Given the description of an element on the screen output the (x, y) to click on. 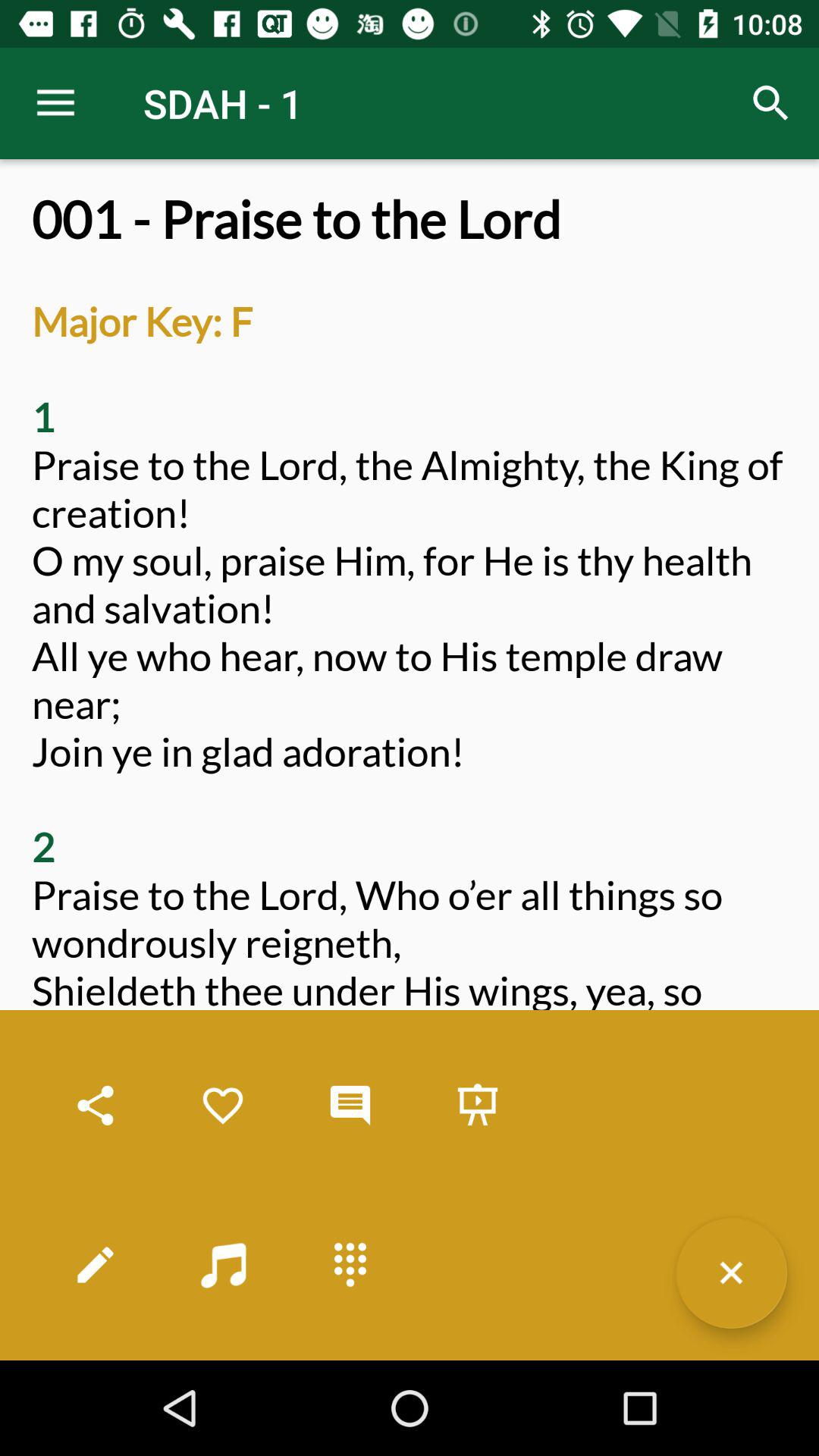
tap 001 praise to item (409, 775)
